Given the description of an element on the screen output the (x, y) to click on. 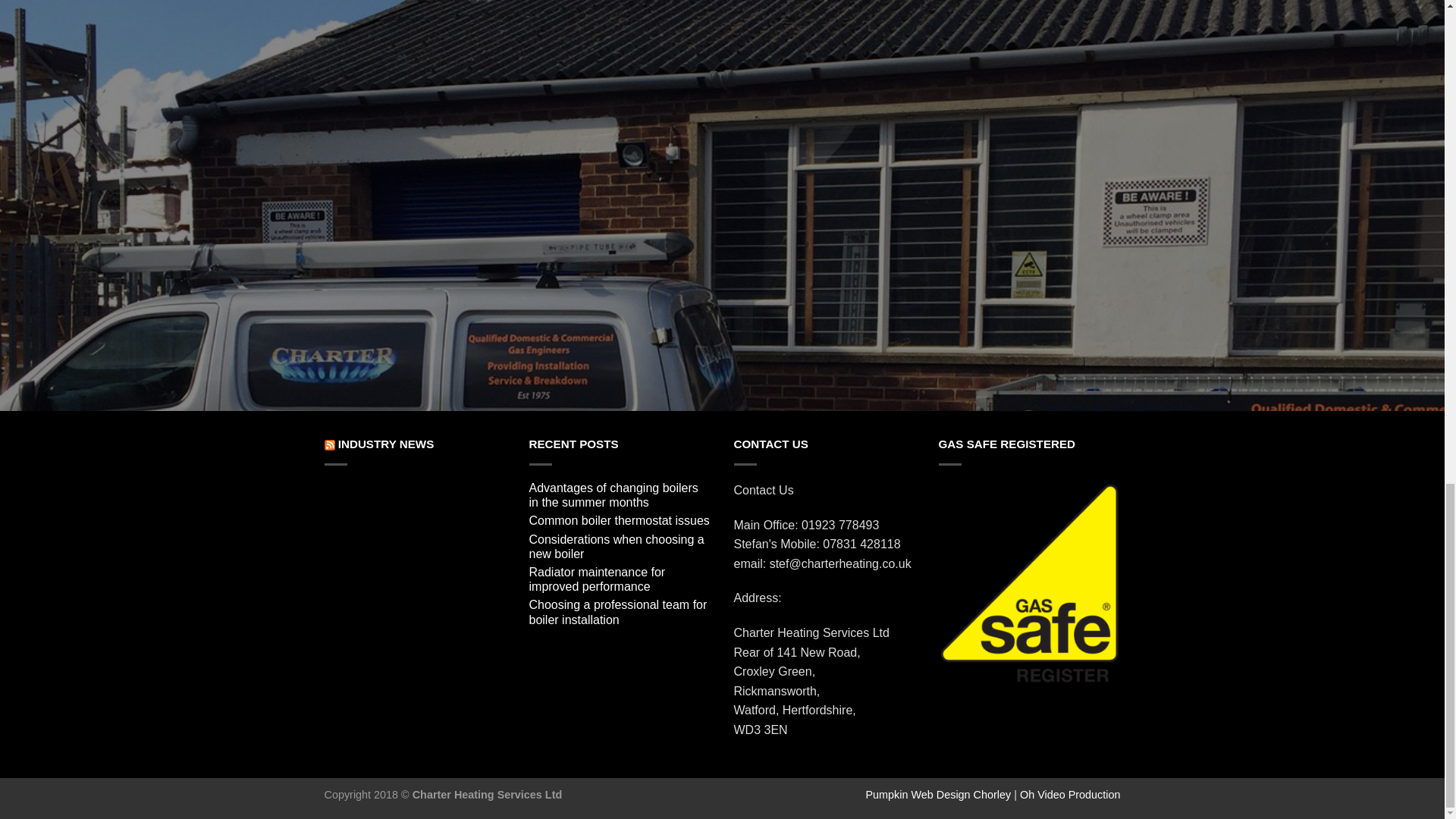
INDUSTRY NEWS (385, 443)
Considerations when choosing a new boiler (620, 548)
Choosing a professional team for boiler installation (620, 613)
Oh Video Production (1070, 794)
Advantages of changing boilers in the summer months (620, 496)
Radiator maintenance for improved performance (620, 581)
Common boiler thermostat issues (620, 522)
Pumpkin Web Design Chorley (938, 794)
